Given the description of an element on the screen output the (x, y) to click on. 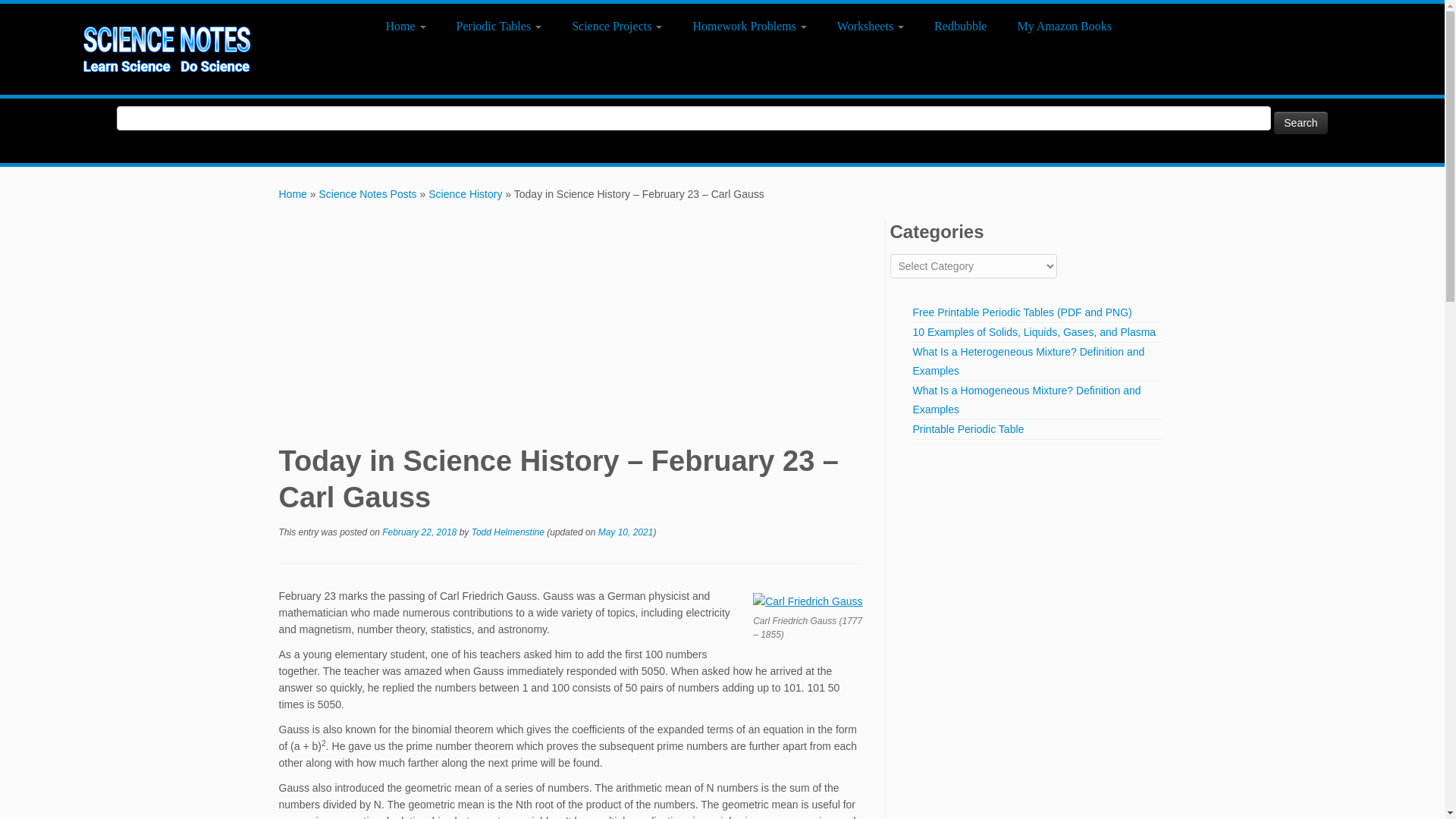
2:47 pm (625, 532)
Periodic Tables (499, 26)
View all posts by Todd Helmenstine (507, 532)
Home (411, 26)
Science Notes and Projects (293, 193)
Todd Helmenstine (507, 532)
Worksheets (870, 26)
May 10, 2021 (625, 532)
Carl Friedrich Gauss (806, 601)
Homework Problems (749, 26)
Search (1300, 121)
Home (293, 193)
Science History (465, 193)
My Amazon Books (1055, 26)
Redbubble (959, 26)
